Given the description of an element on the screen output the (x, y) to click on. 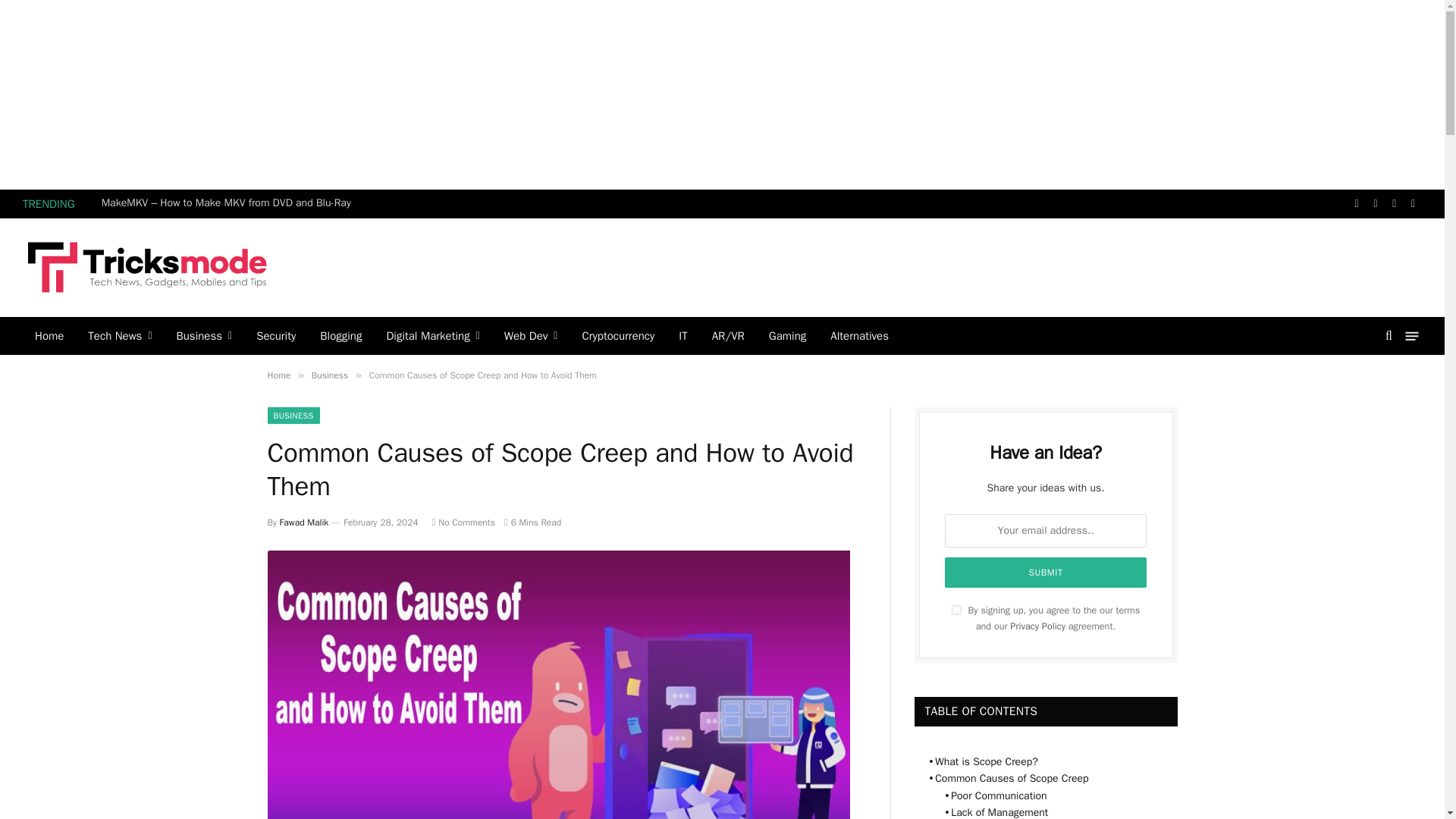
on (956, 610)
Blogging (340, 335)
Business (203, 335)
Submit (1045, 572)
Tech News (119, 335)
Home (49, 335)
Security (275, 335)
Digital Marketing (433, 335)
Posts by Fawad Malik (304, 522)
